Given the description of an element on the screen output the (x, y) to click on. 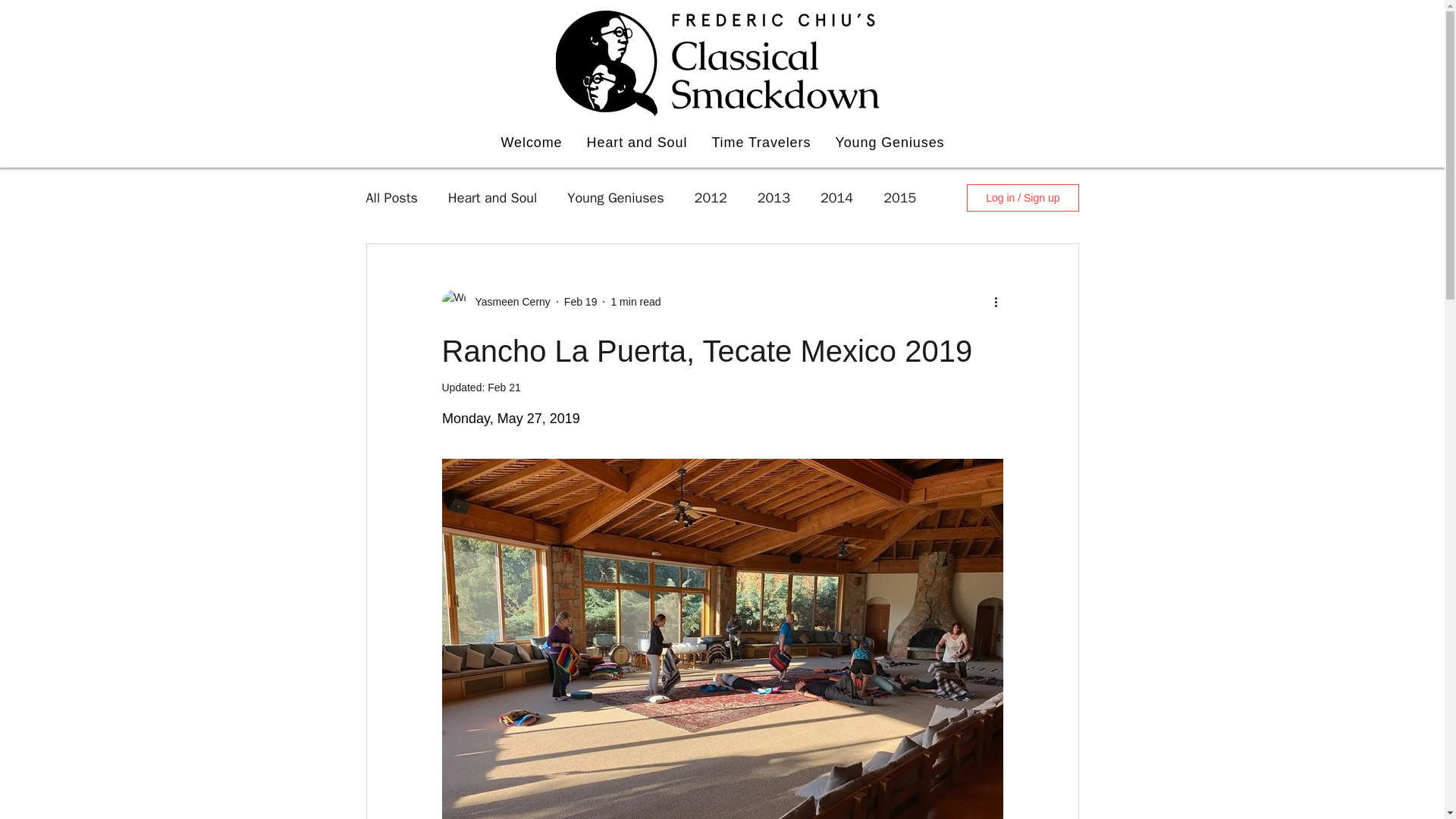
All Posts (390, 198)
Young Geniuses (615, 198)
2014 (837, 198)
1 min read (635, 301)
Heart and Soul (492, 198)
Feb 21 (504, 387)
2013 (773, 198)
2015 (899, 198)
Yasmeen Cerny (507, 302)
Feb 19 (580, 301)
